Given the description of an element on the screen output the (x, y) to click on. 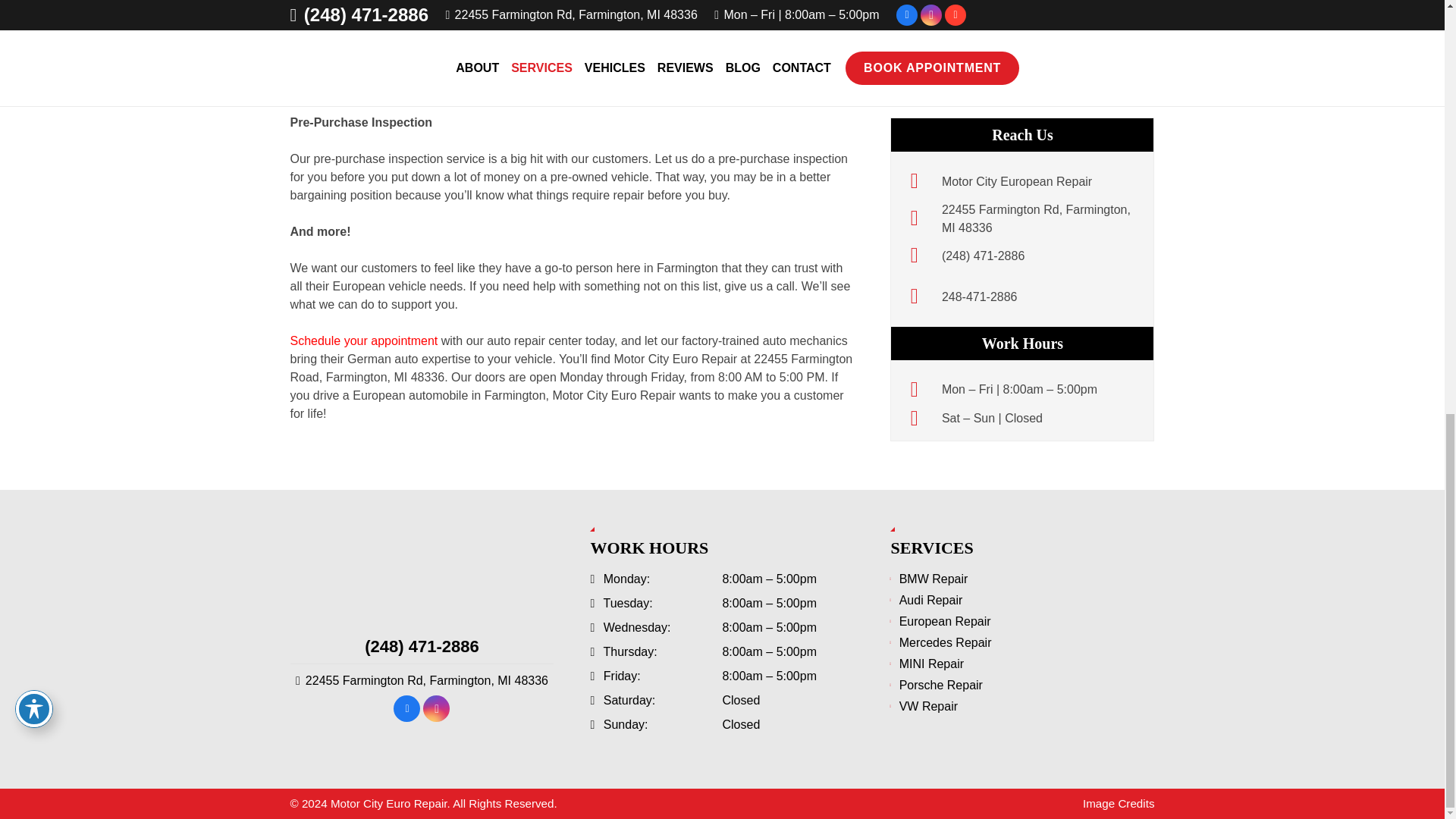
Facebook (406, 708)
Home (421, 569)
Back to top (1413, 13)
Instagram (436, 708)
